Given the description of an element on the screen output the (x, y) to click on. 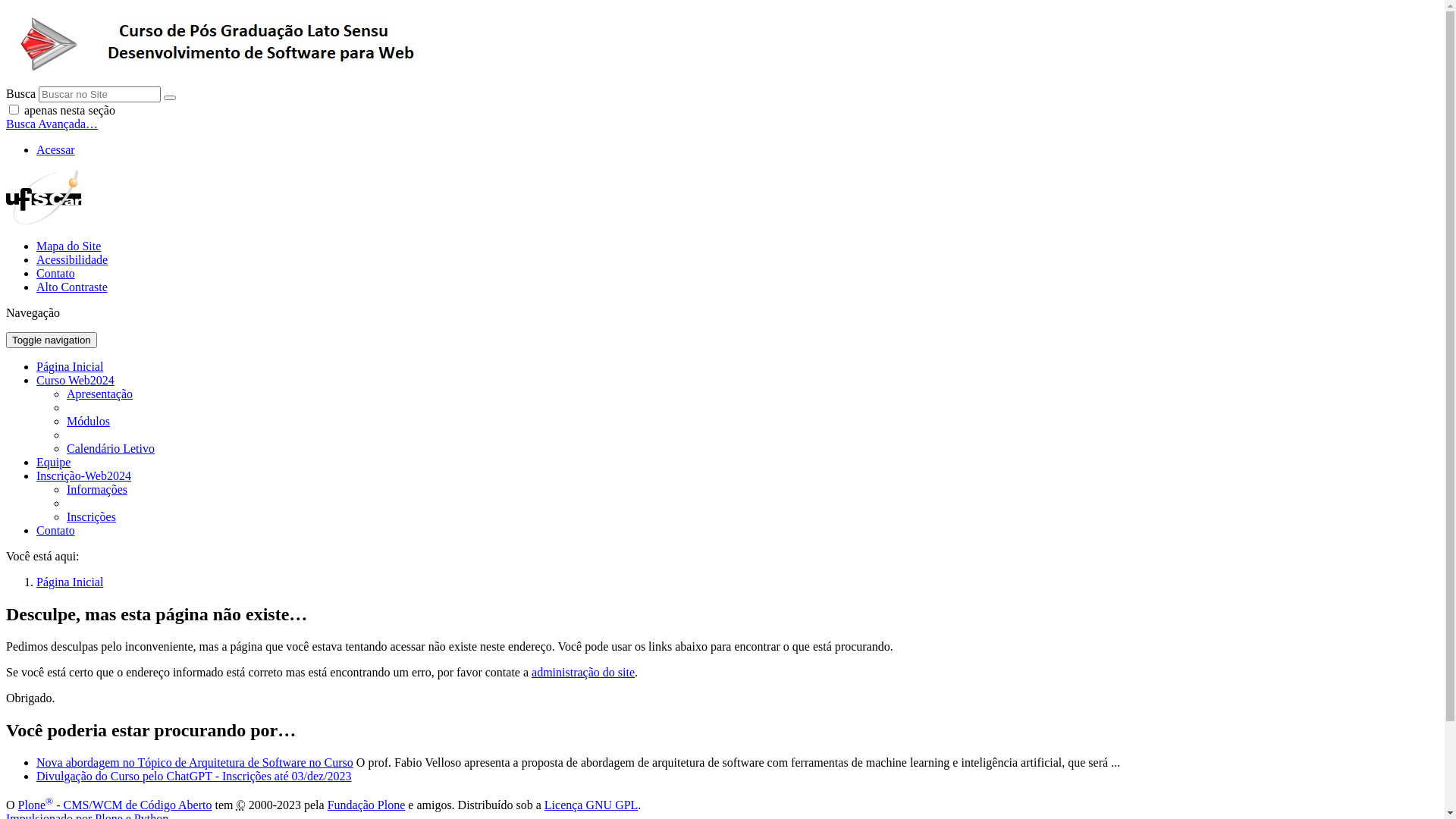
Lato Sensu DC Element type: hover (225, 78)
Equipe Element type: text (53, 461)
Contato Element type: text (55, 272)
Contato Element type: text (55, 530)
Curso Web2024 Element type: text (75, 379)
Mapa do Site Element type: text (68, 245)
Lato Sensu DC Element type: hover (225, 44)
Portal UFSCar Element type: hover (43, 219)
Buscar no Site Element type: hover (99, 94)
Toggle navigation Element type: text (51, 340)
Acessar Element type: text (55, 149)
Acessibilidade Element type: text (71, 259)
Alto Contraste Element type: text (71, 286)
